Given the description of an element on the screen output the (x, y) to click on. 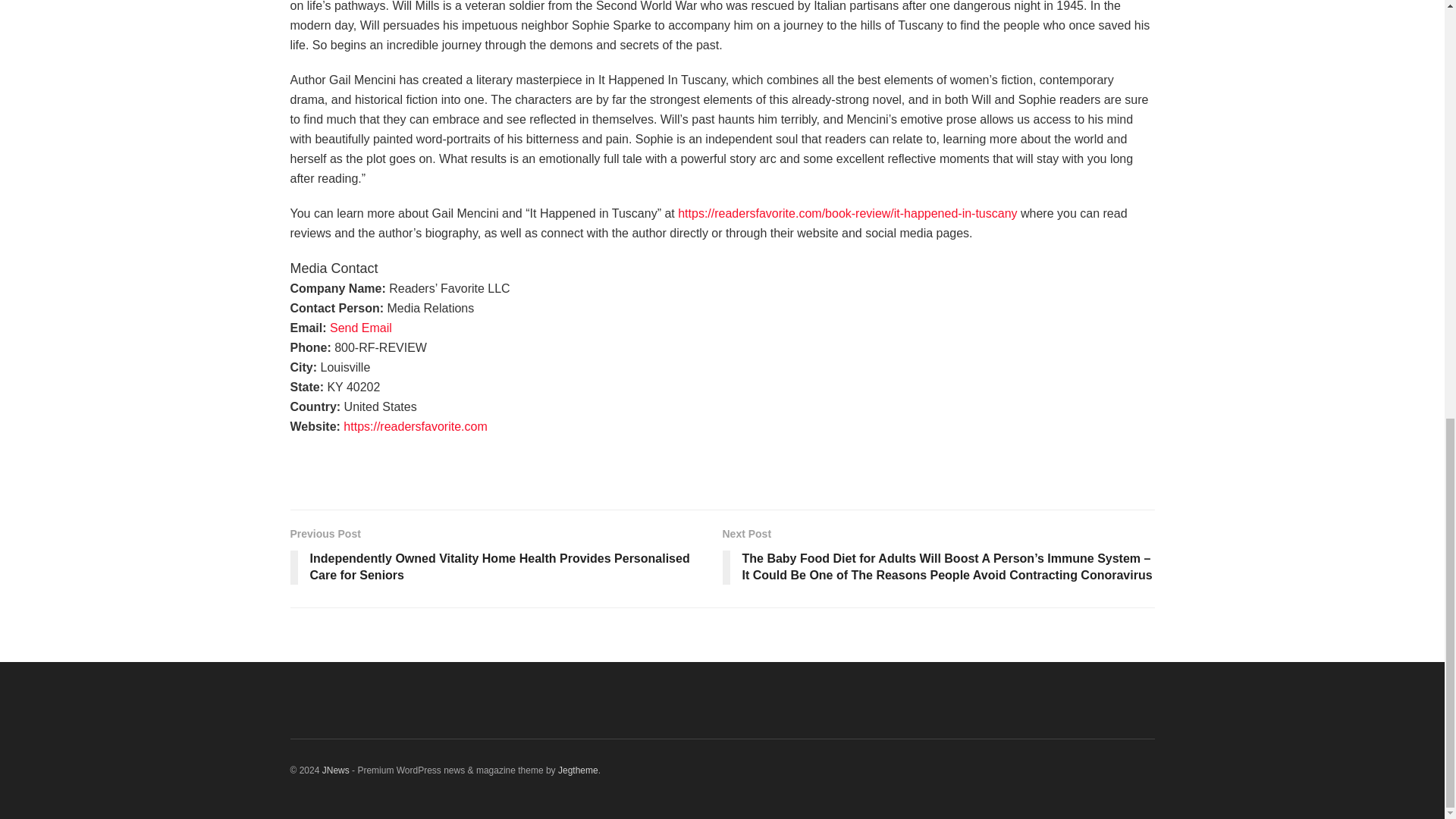
JNews (335, 769)
Jegtheme (577, 769)
Send Email (360, 327)
Jegtheme (577, 769)
